Given the description of an element on the screen output the (x, y) to click on. 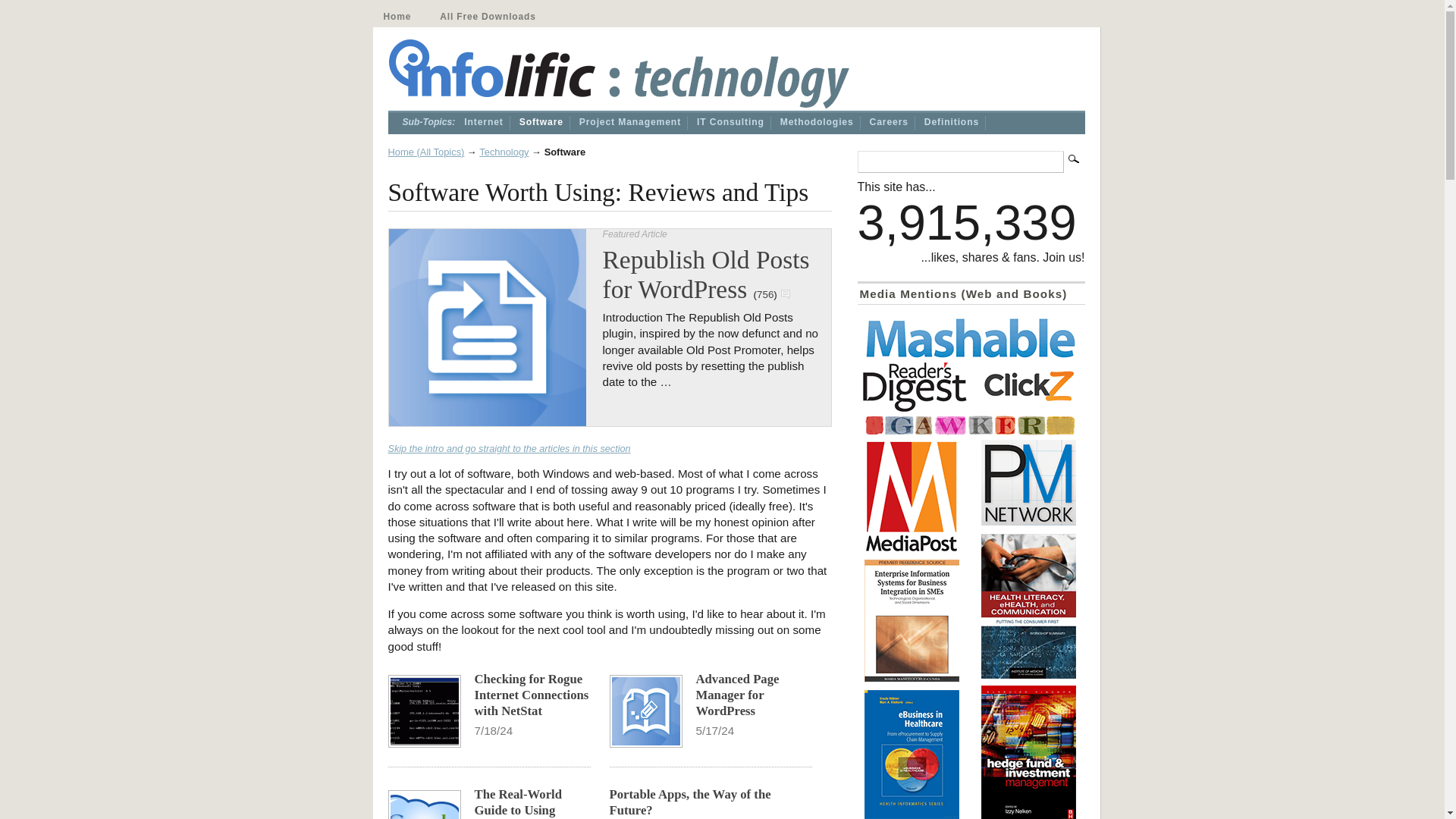
756 (765, 294)
Definitions (951, 123)
Internet (483, 123)
Project Management (630, 123)
Careers (888, 123)
Advanced Page Manager for WordPress (736, 694)
Technology (503, 152)
Portable Apps, the Way of the Future? (690, 802)
Republish Old Posts for WordPress (705, 273)
Software (541, 123)
All Free Downloads (487, 16)
Methodologies (816, 123)
The Real-World Guide to Using Google Drive (518, 803)
Home (397, 16)
Checking for Rogue Internet Connections with NetStat (531, 694)
